Given the description of an element on the screen output the (x, y) to click on. 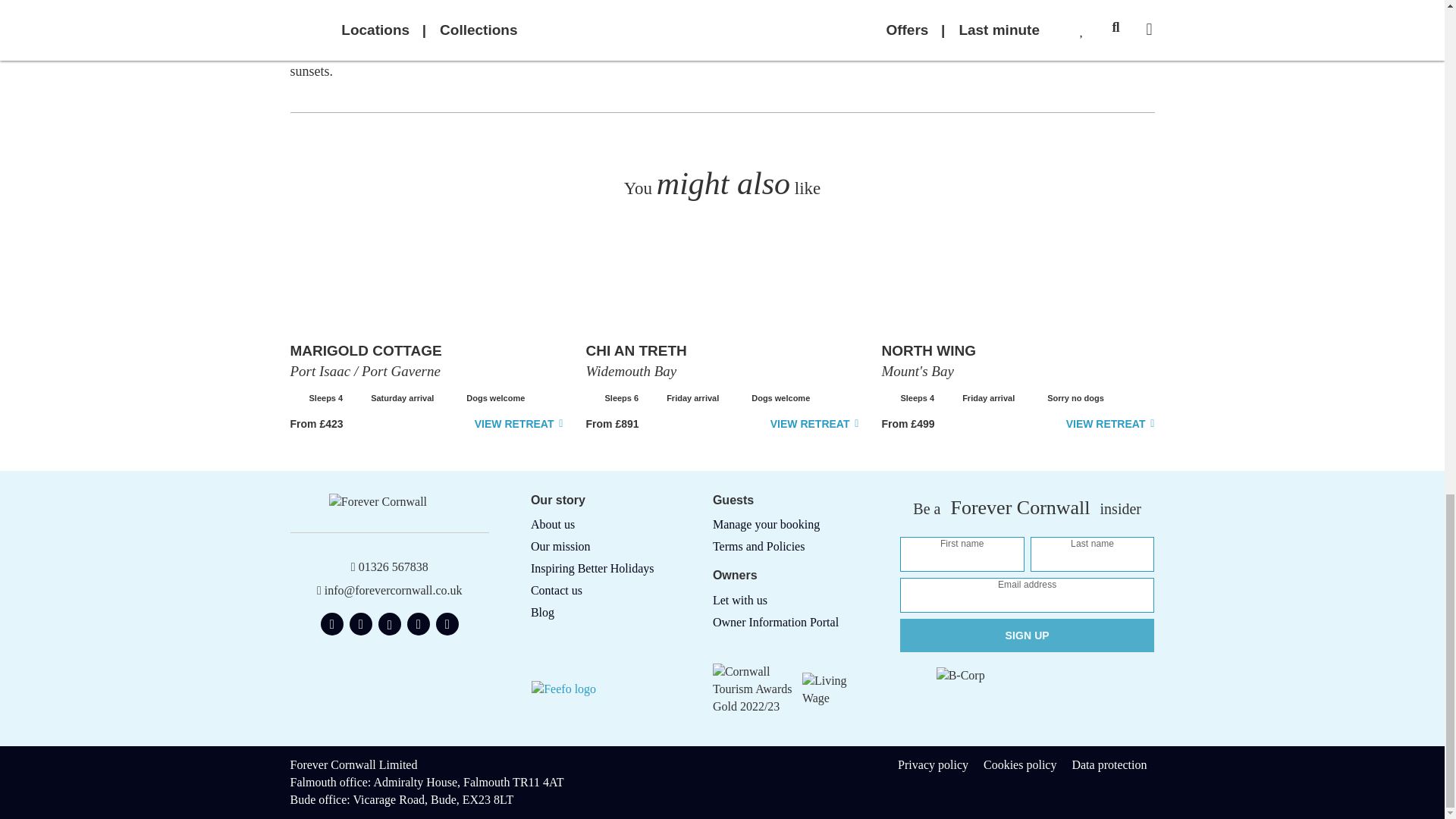
See what our customers say about us (597, 689)
North Wing - Mount's Bay, Cornwall (927, 350)
Chi An Treth - Widemouth Bay, Cornwall (814, 424)
Chi An Treth - Widemouth Bay, Cornwall (635, 350)
North Wing - Mount's Bay, Cornwall (1109, 424)
